Given the description of an element on the screen output the (x, y) to click on. 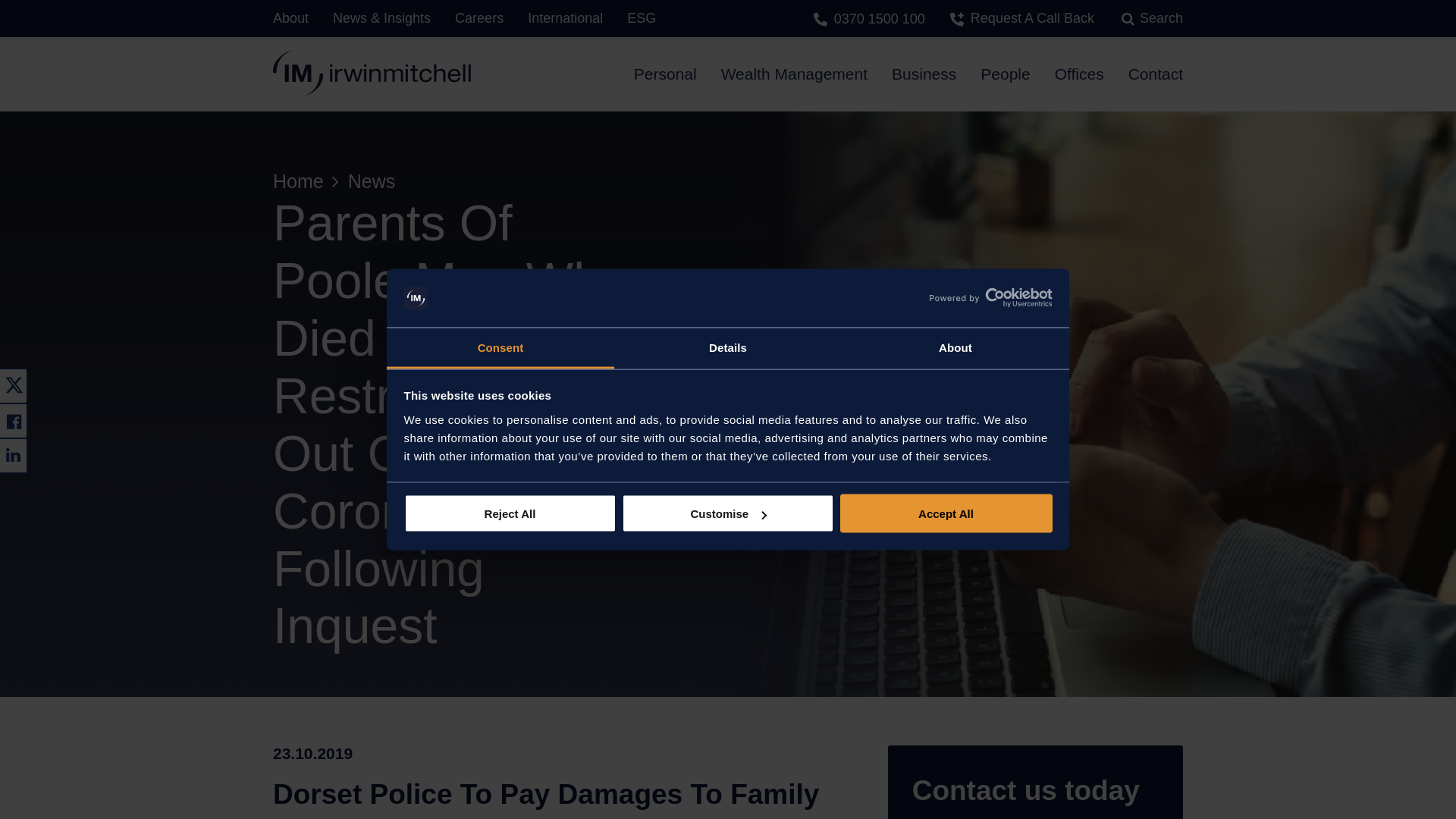
About (954, 347)
Details (727, 347)
Consent (500, 347)
